Given the description of an element on the screen output the (x, y) to click on. 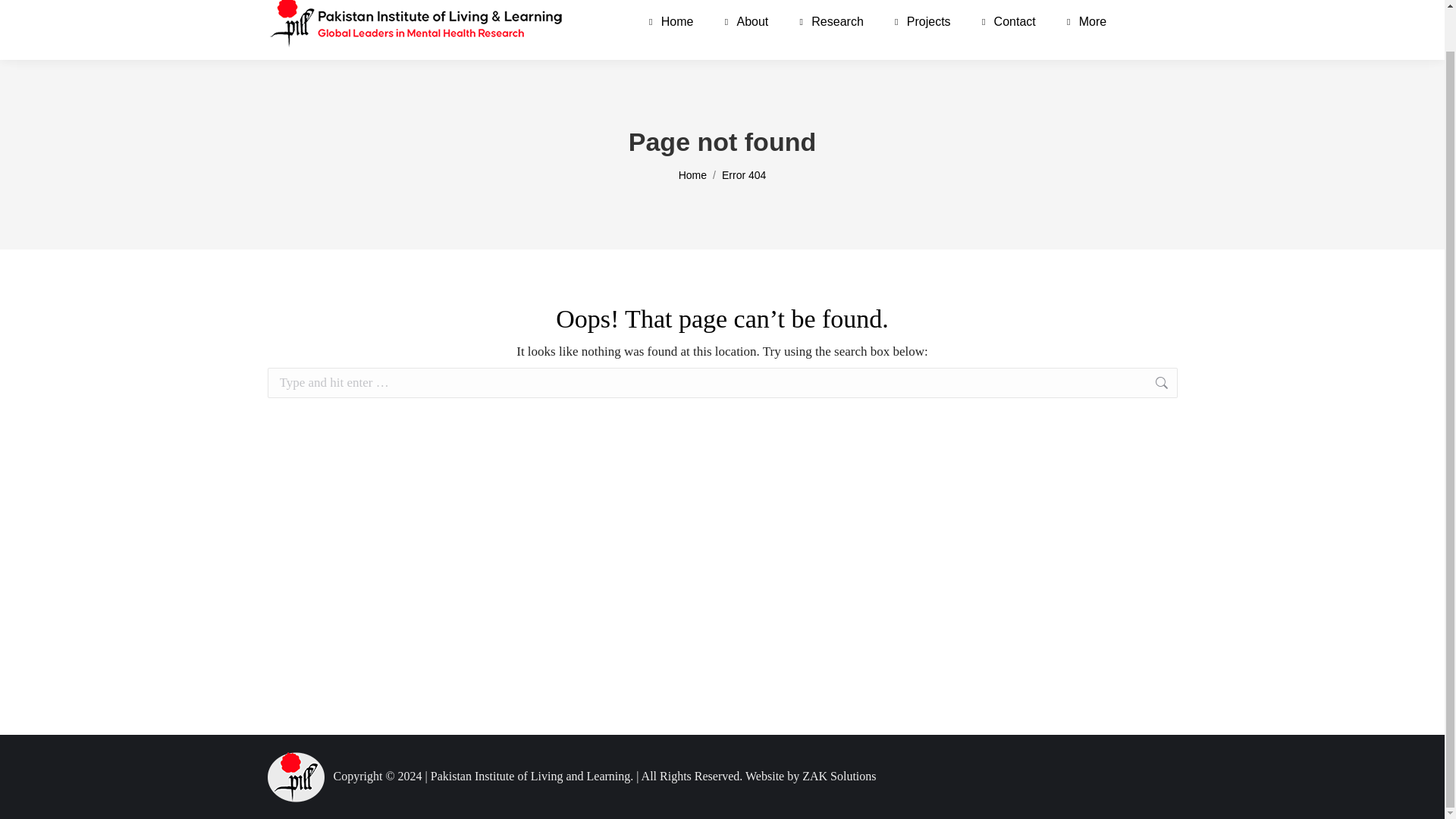
About (744, 22)
Go! (1200, 384)
Research (829, 22)
Home (669, 22)
Go! (1200, 384)
